Given the description of an element on the screen output the (x, y) to click on. 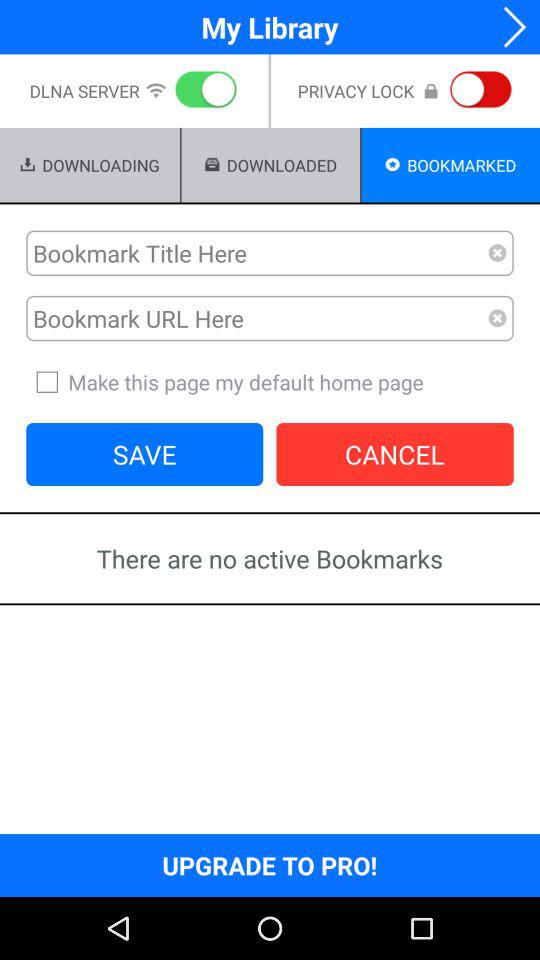
turn on app to the right of my library app (508, 26)
